Given the description of an element on the screen output the (x, y) to click on. 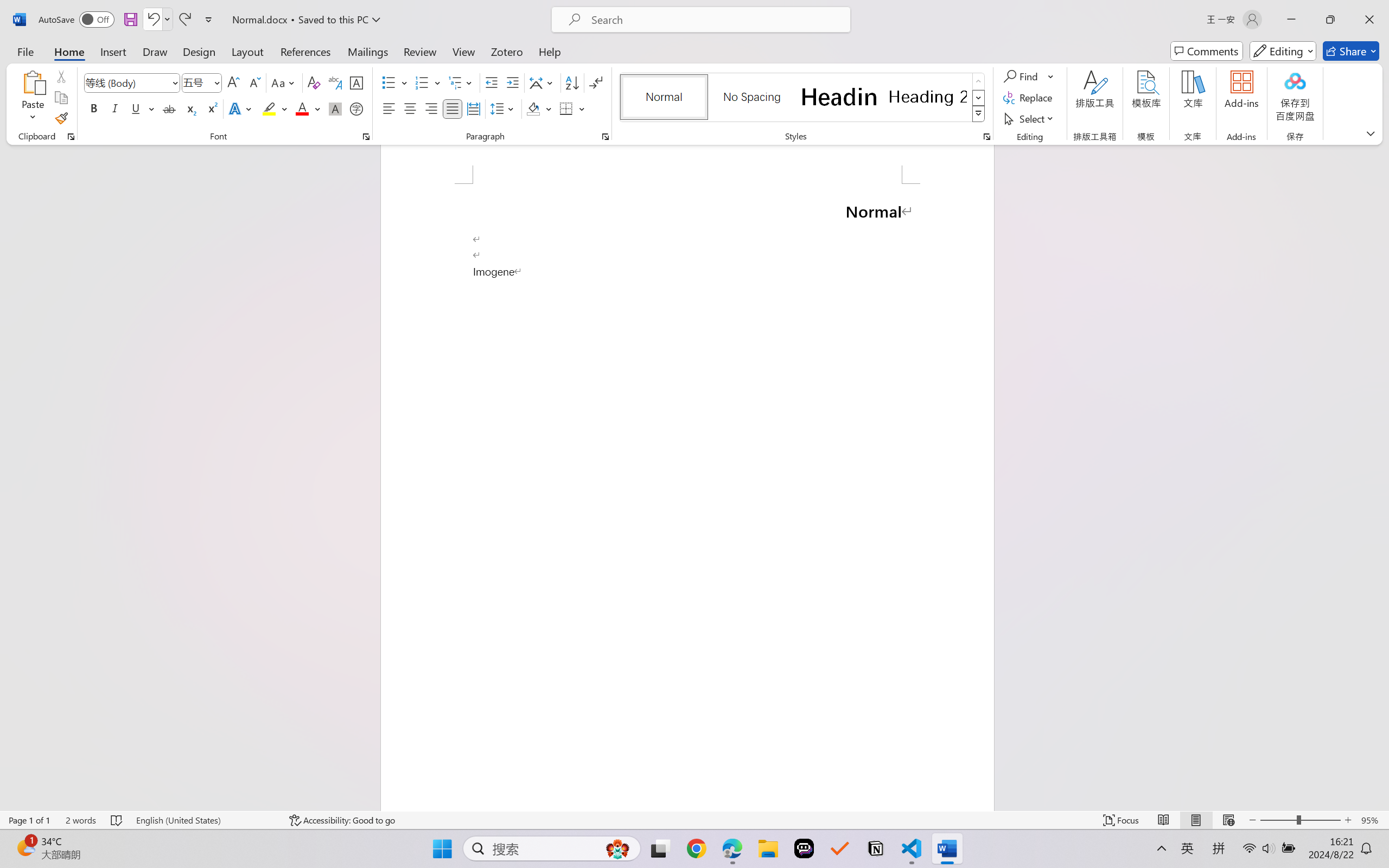
Line and Paragraph Spacing (503, 108)
Increase Indent (512, 82)
Row up (978, 81)
Subscript (190, 108)
Phonetic Guide... (334, 82)
